Given the description of an element on the screen output the (x, y) to click on. 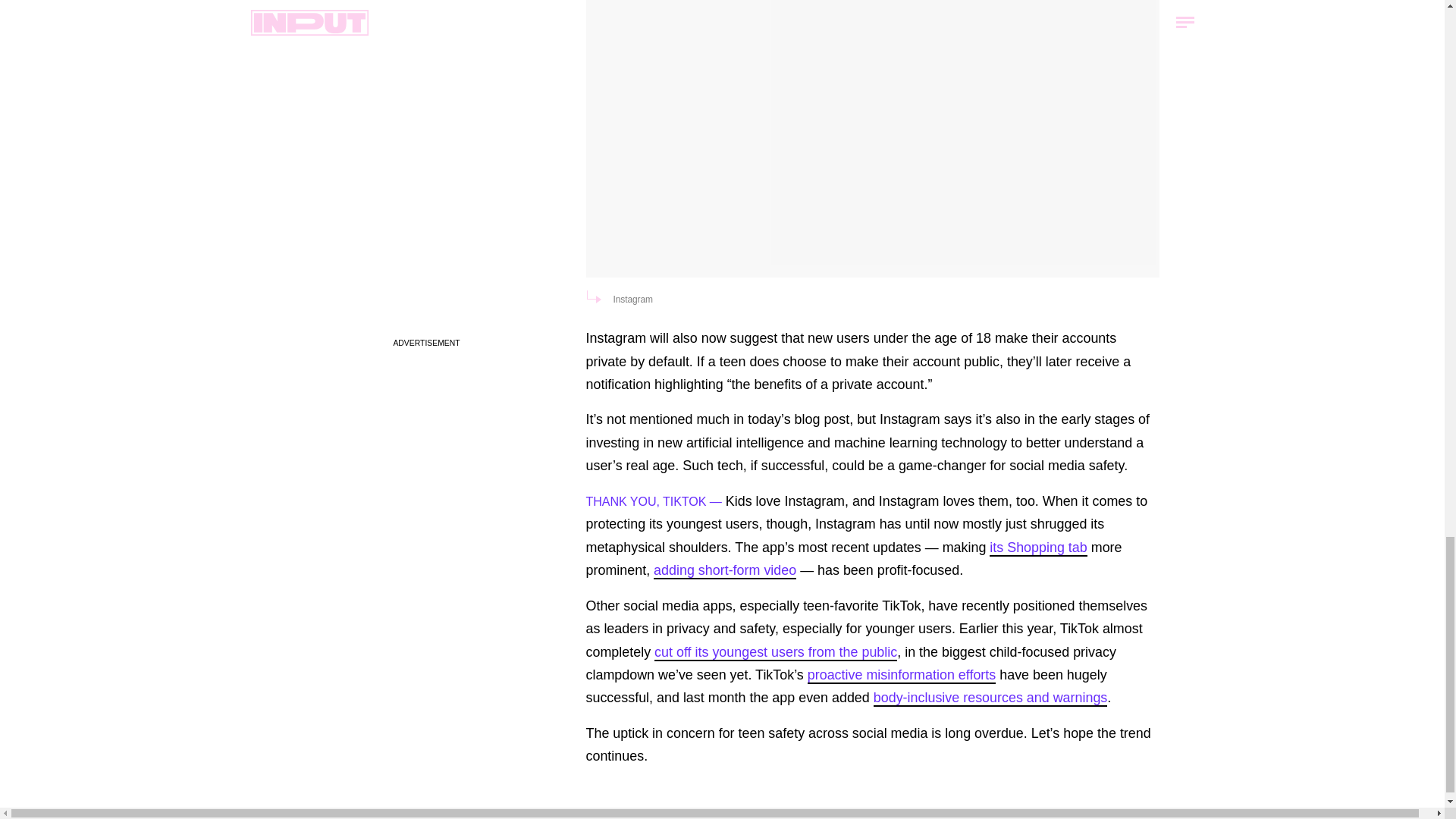
cut off its youngest users from the public (774, 652)
proactive misinformation efforts (901, 675)
body-inclusive resources and warnings (990, 698)
adding short-form video (724, 570)
its Shopping tab (1038, 547)
